Given the description of an element on the screen output the (x, y) to click on. 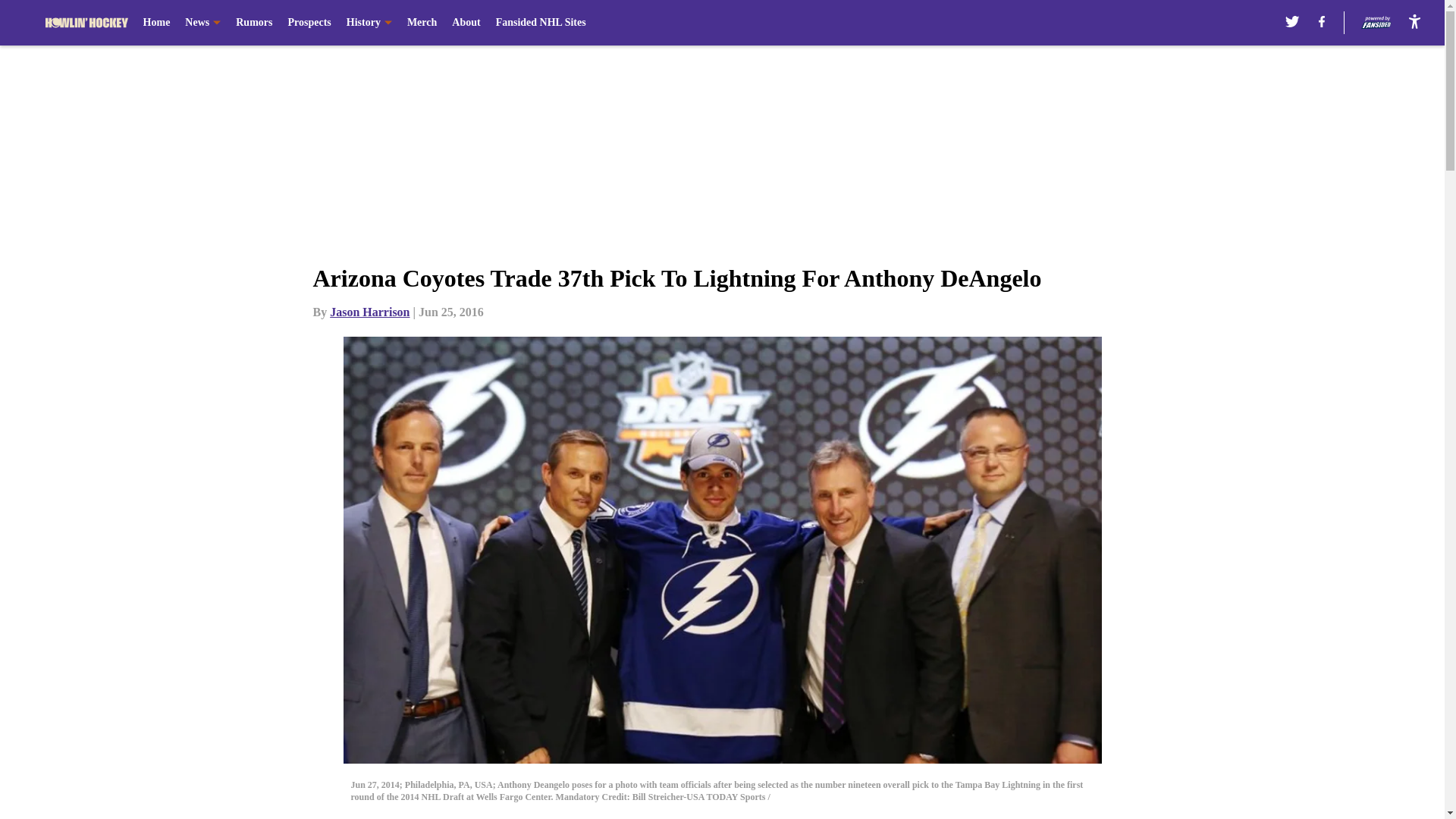
Home (156, 22)
Fansided NHL Sites (541, 22)
About (465, 22)
Jason Harrison (369, 311)
Prospects (308, 22)
Rumors (253, 22)
Merch (421, 22)
